Given the description of an element on the screen output the (x, y) to click on. 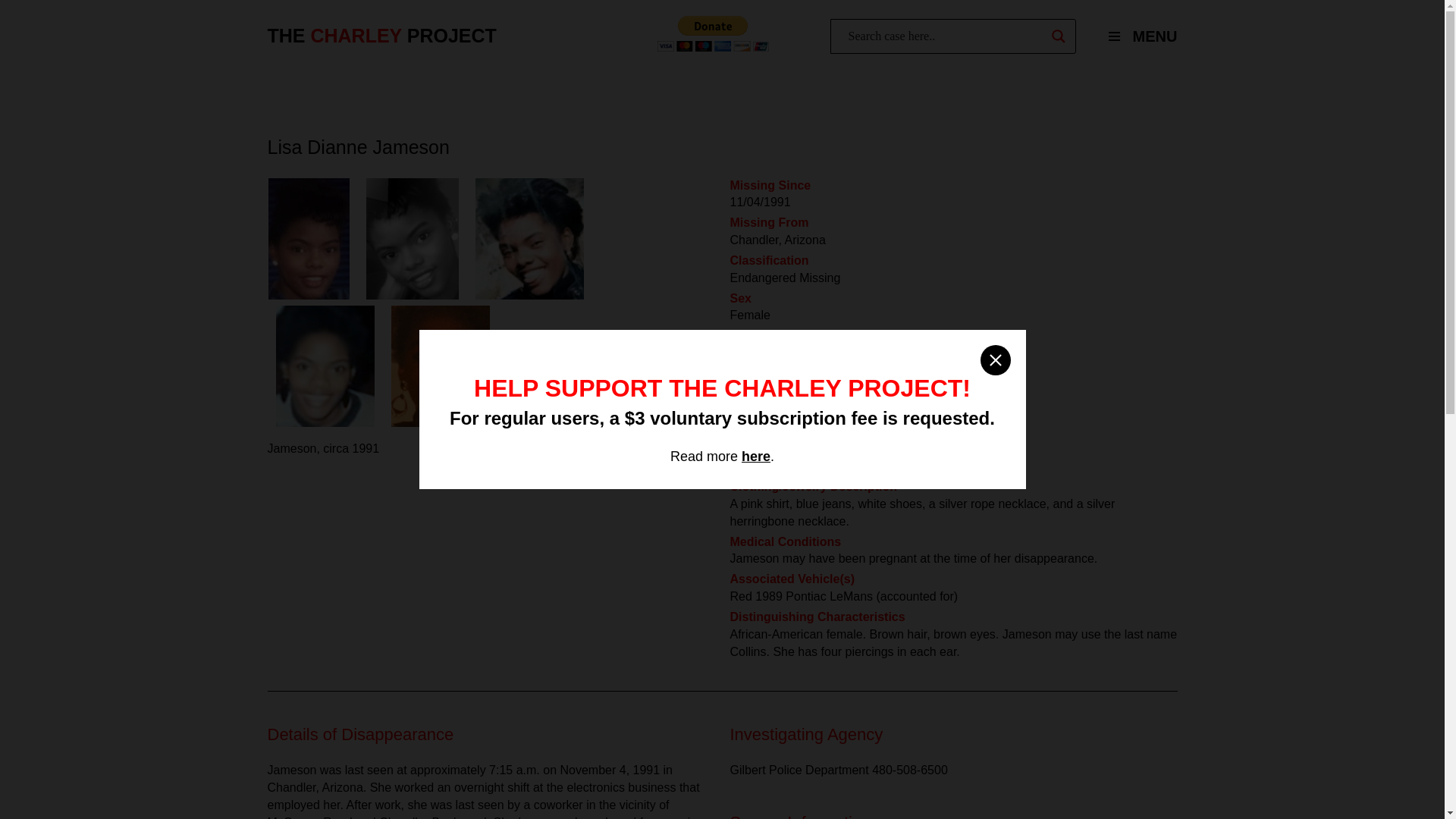
MENU (1135, 36)
THE CHARLEY PROJECT (381, 35)
